Given the description of an element on the screen output the (x, y) to click on. 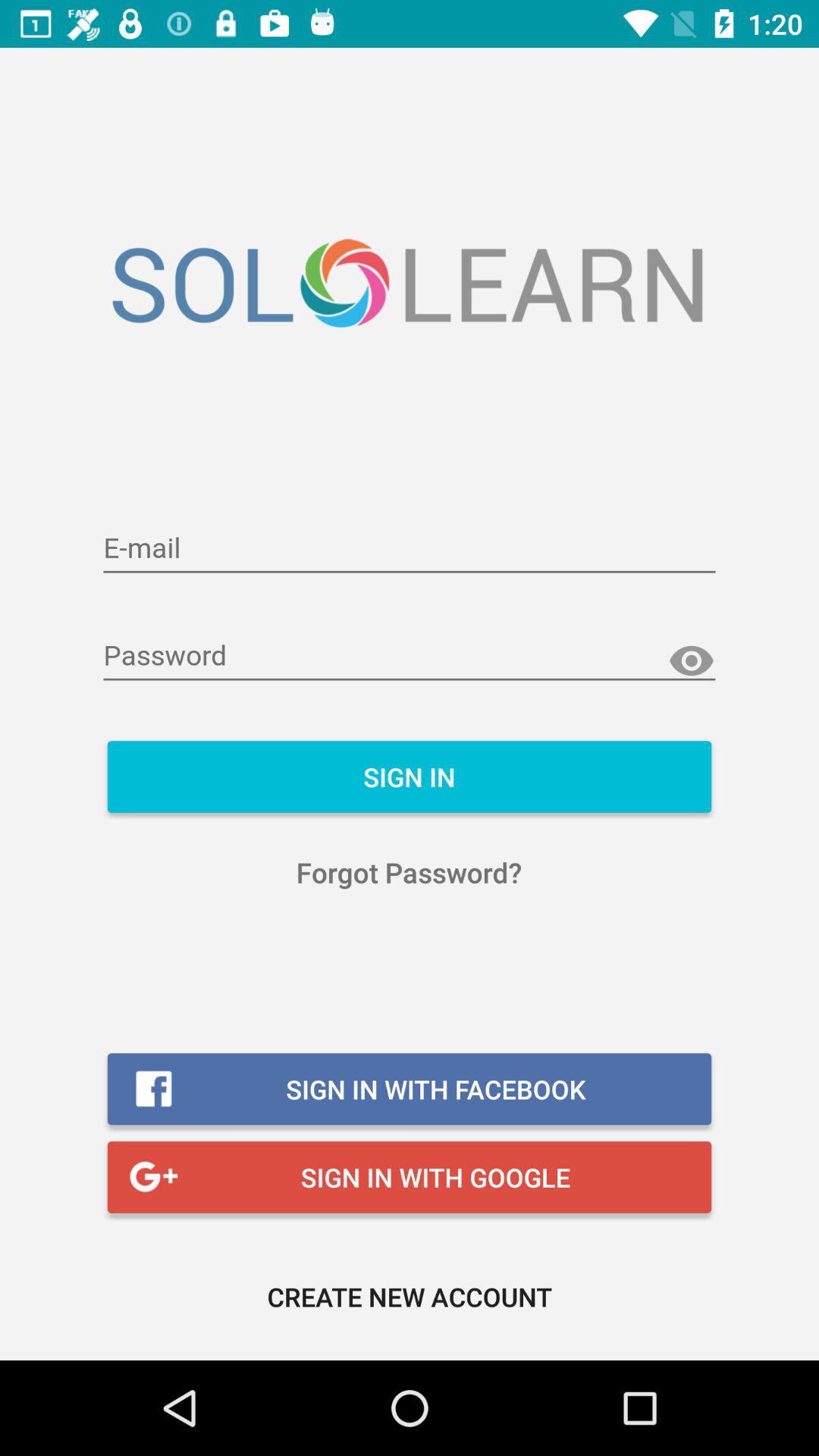
tap item below the sign in with icon (409, 1296)
